Given the description of an element on the screen output the (x, y) to click on. 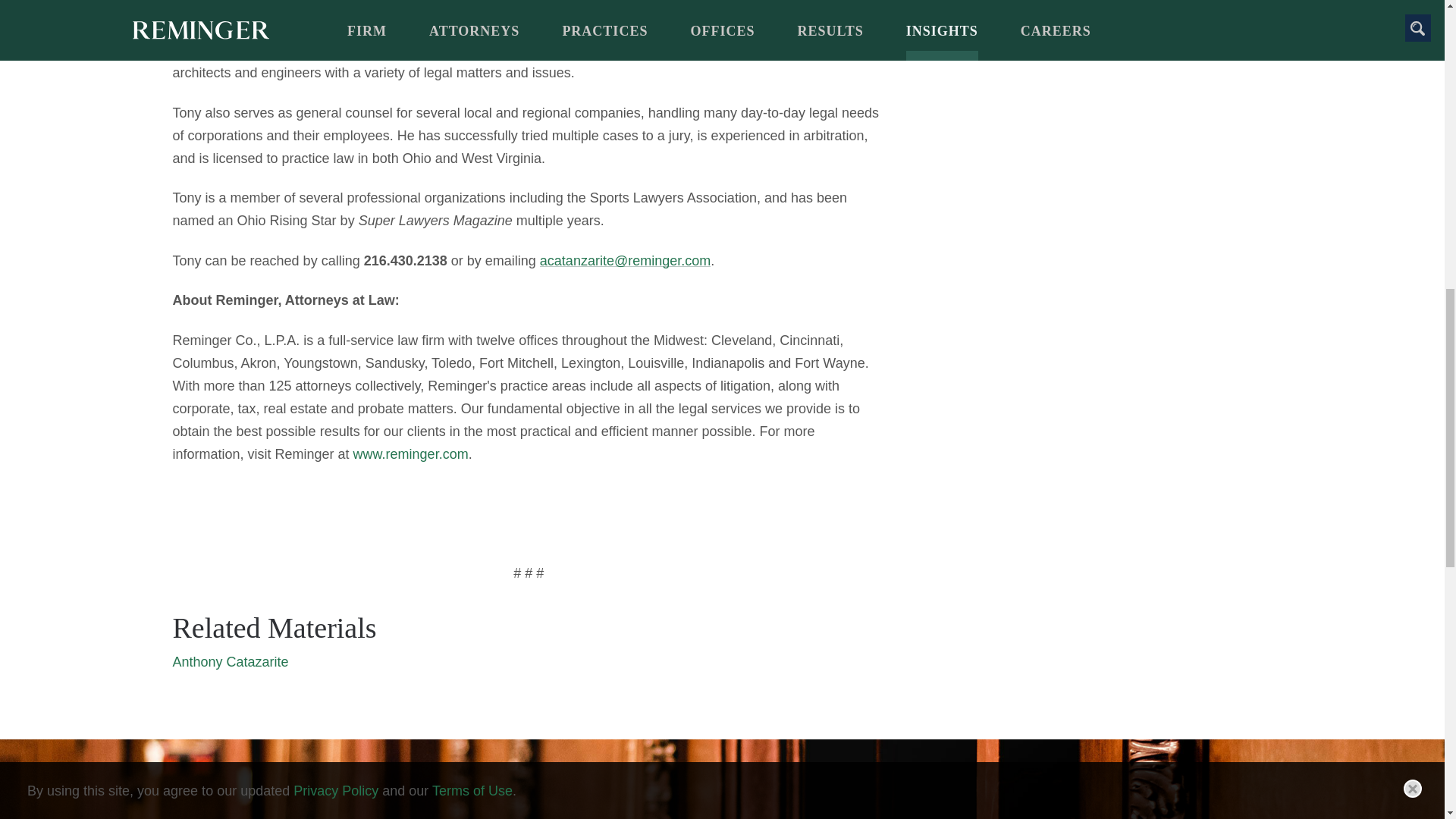
www.reminger.com (410, 453)
Anthony Catazarite (230, 661)
